Given the description of an element on the screen output the (x, y) to click on. 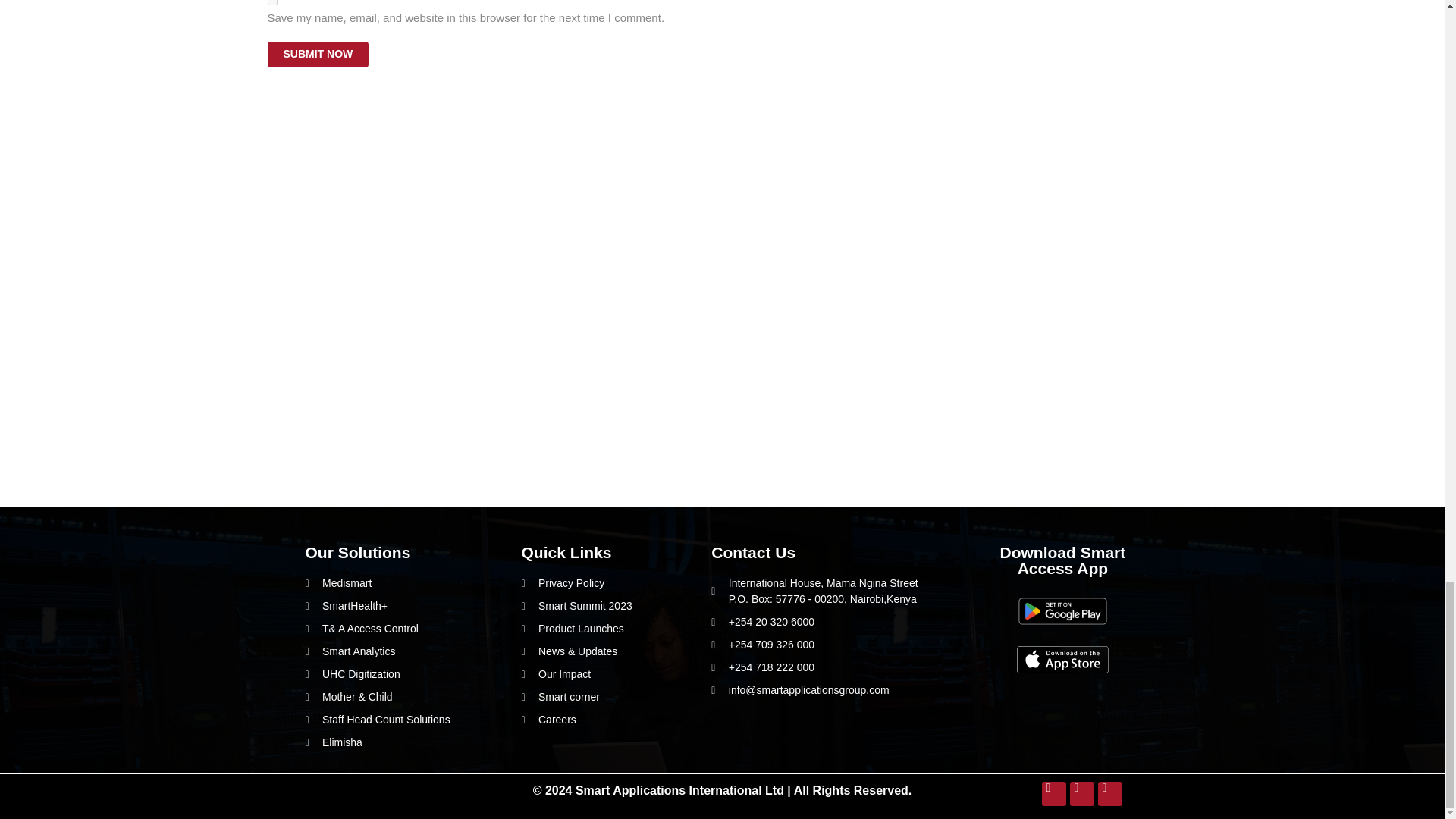
yes (271, 2)
Submit Now (317, 53)
